Given the description of an element on the screen output the (x, y) to click on. 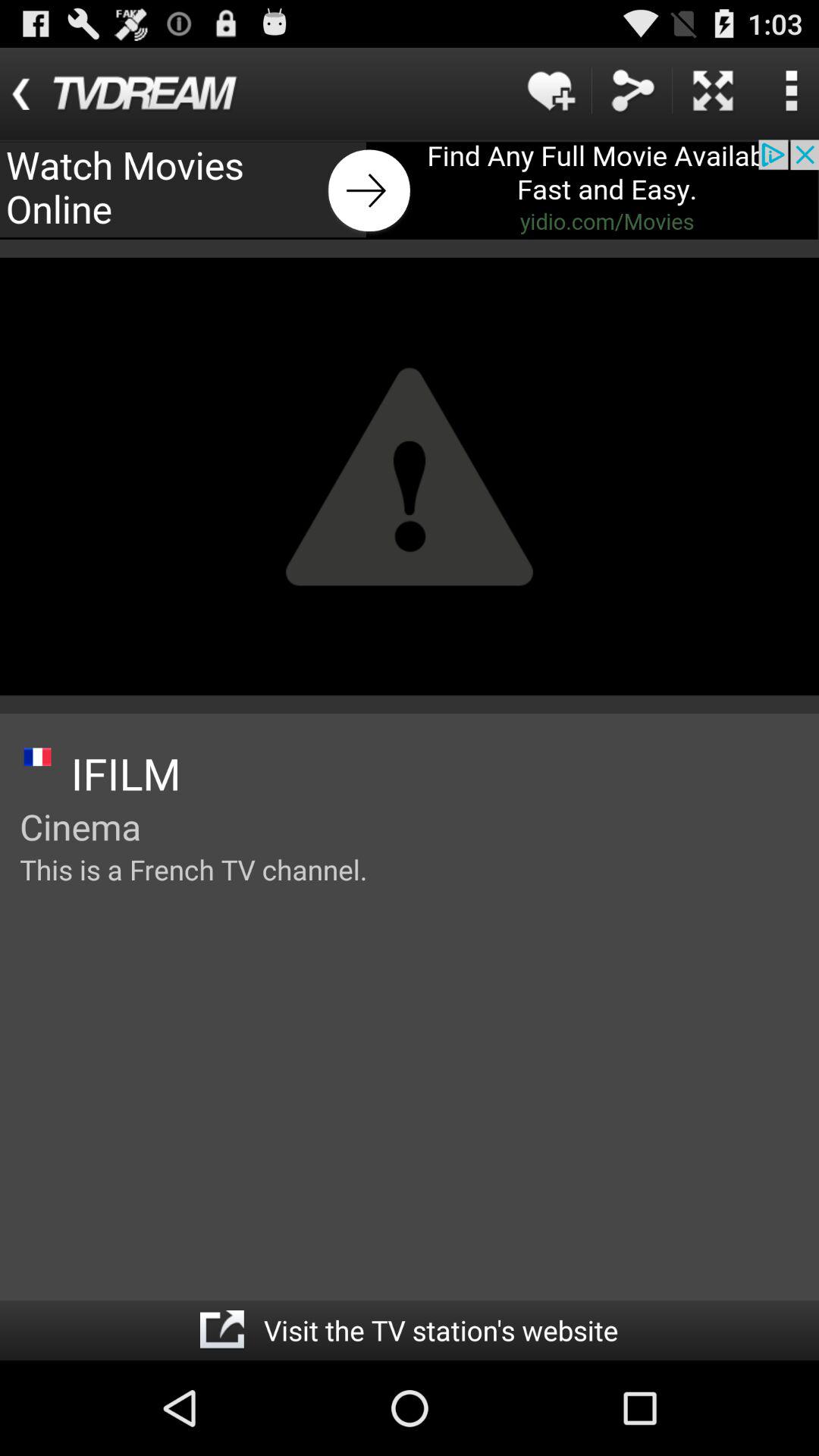
sync (632, 90)
